Given the description of an element on the screen output the (x, y) to click on. 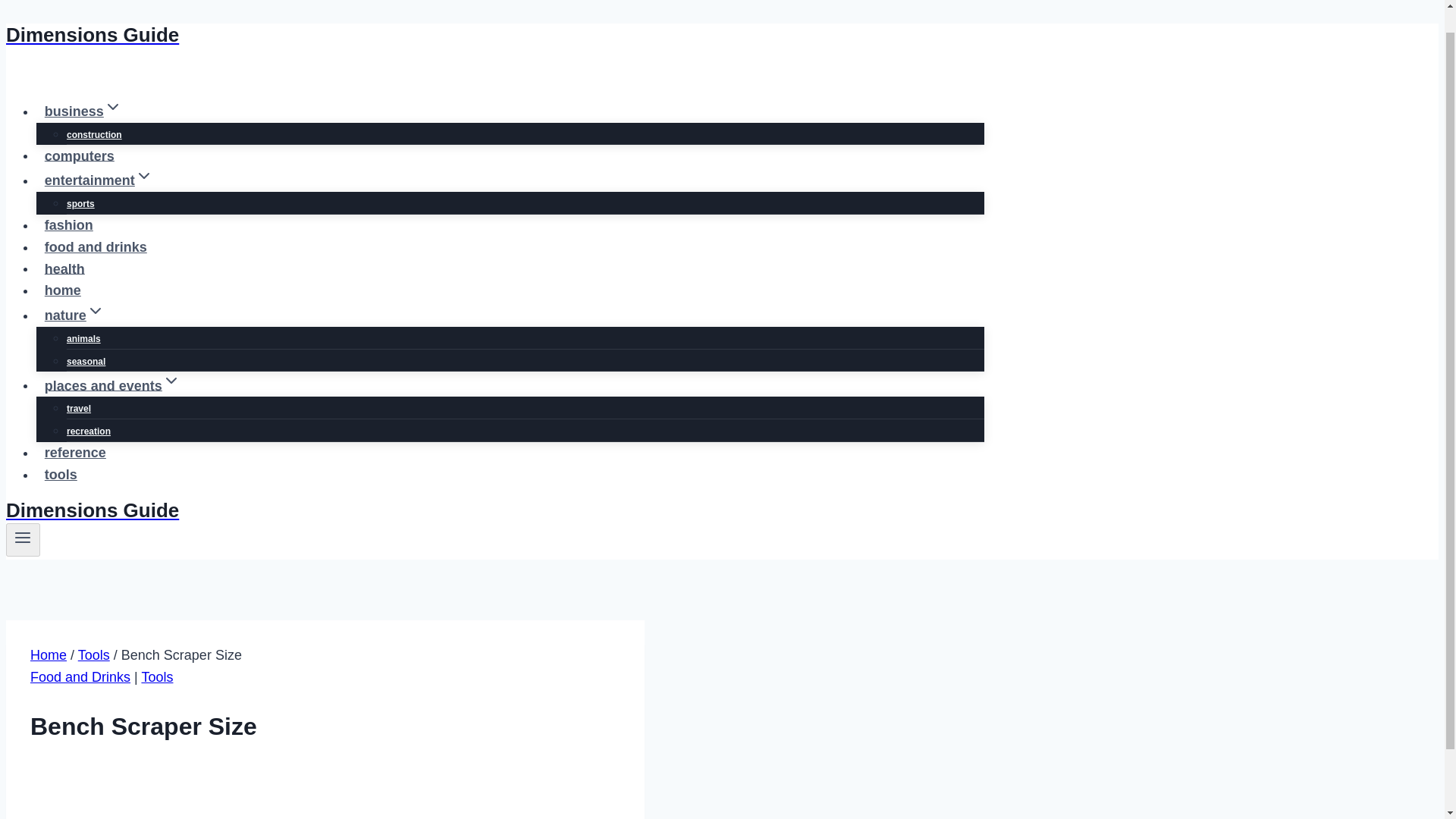
recreation (88, 430)
natureexpand (74, 315)
fashion (68, 224)
Food and Drinks (80, 676)
expand (170, 380)
tools (60, 474)
businessexpand (83, 111)
expand (94, 311)
Toggle Menu (22, 537)
Dimensions Guide (494, 34)
Tools (94, 654)
seasonal (85, 361)
expand (112, 106)
Tools (157, 676)
entertainmentexpand (98, 180)
